Given the description of an element on the screen output the (x, y) to click on. 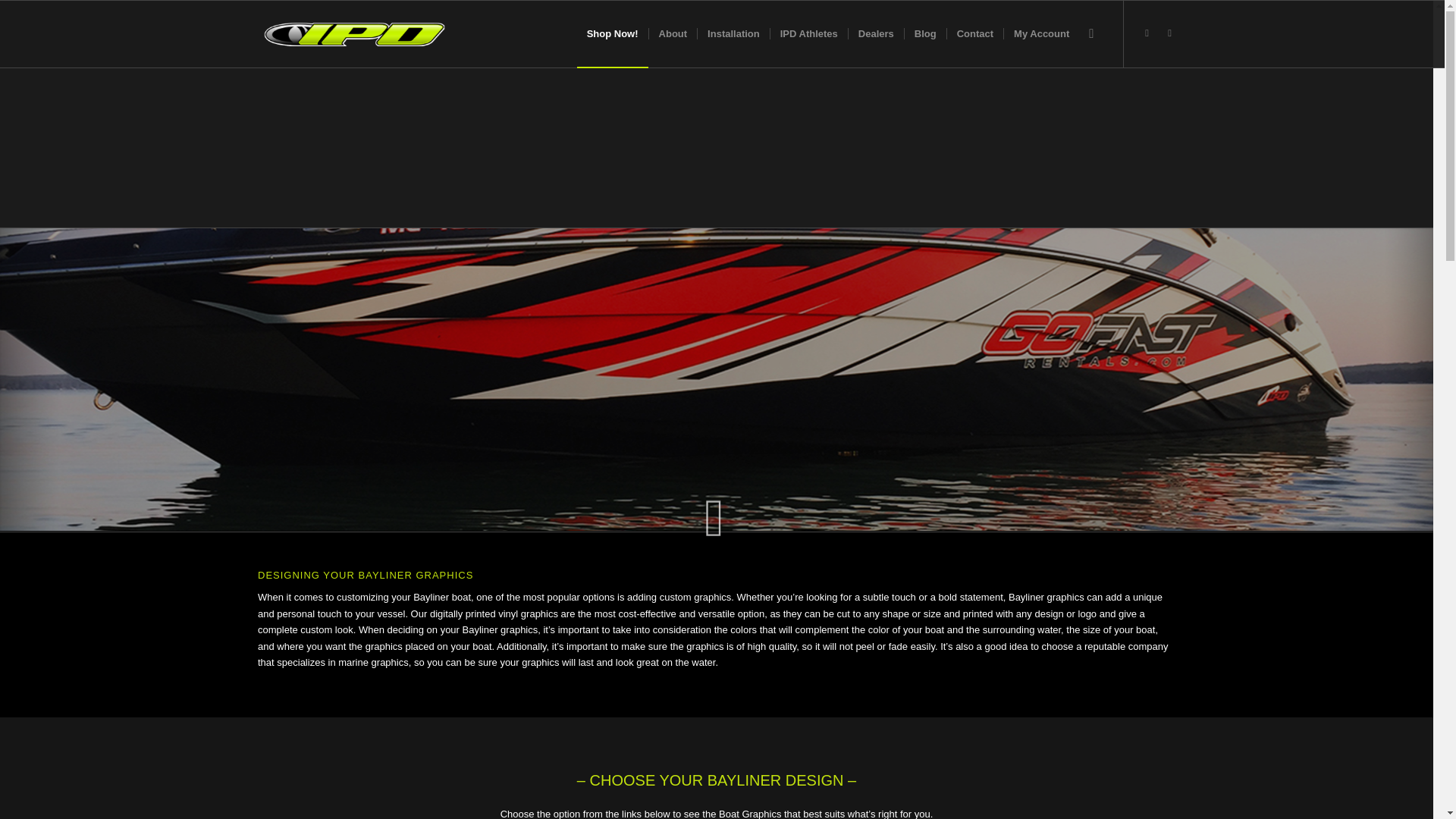
Shop Now! (611, 33)
ipd-graphics-logo (354, 33)
Instagram (1146, 33)
Facebook (1169, 33)
Installation (733, 33)
